Given the description of an element on the screen output the (x, y) to click on. 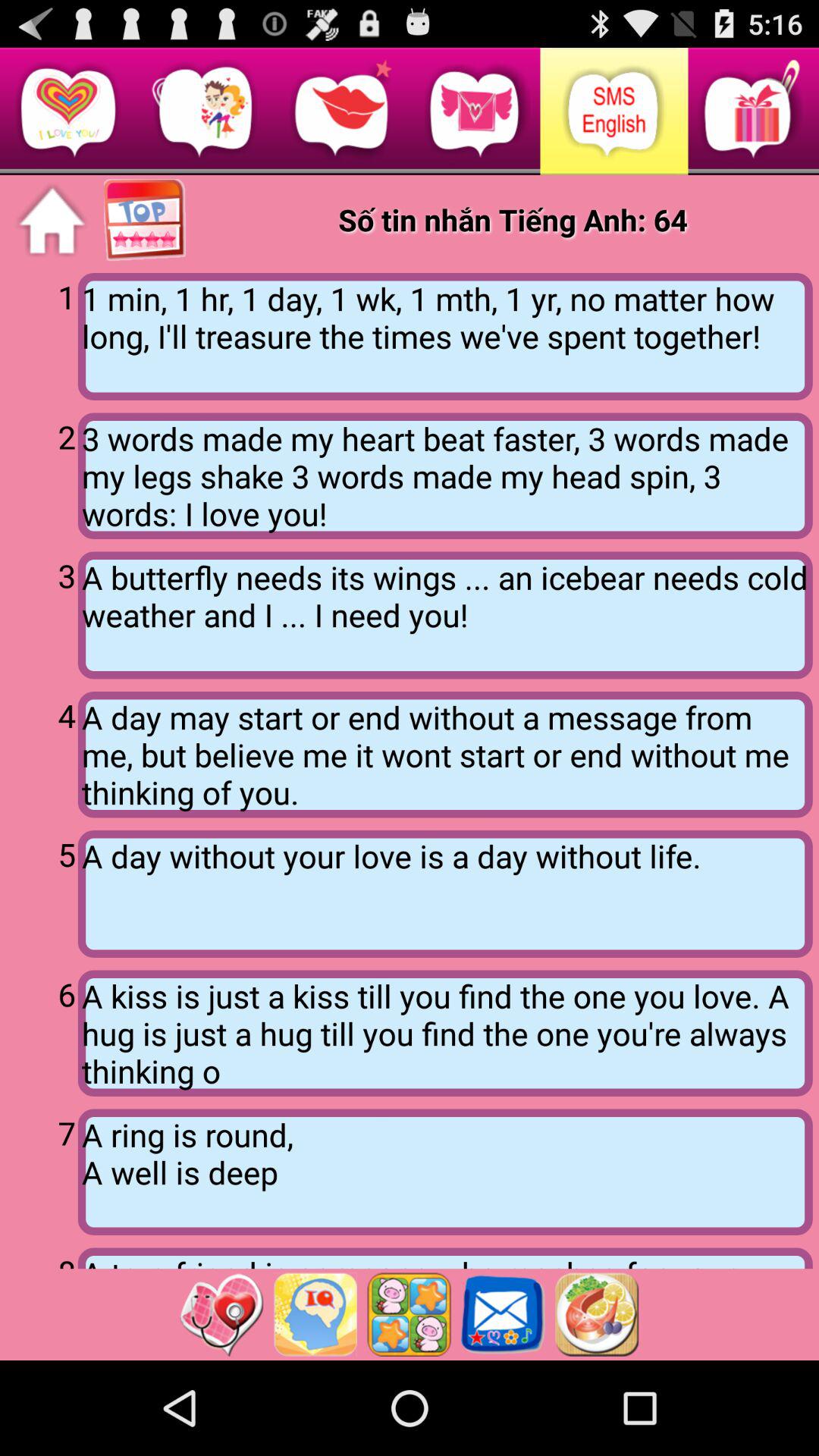
open meals (596, 1314)
